Given the description of an element on the screen output the (x, y) to click on. 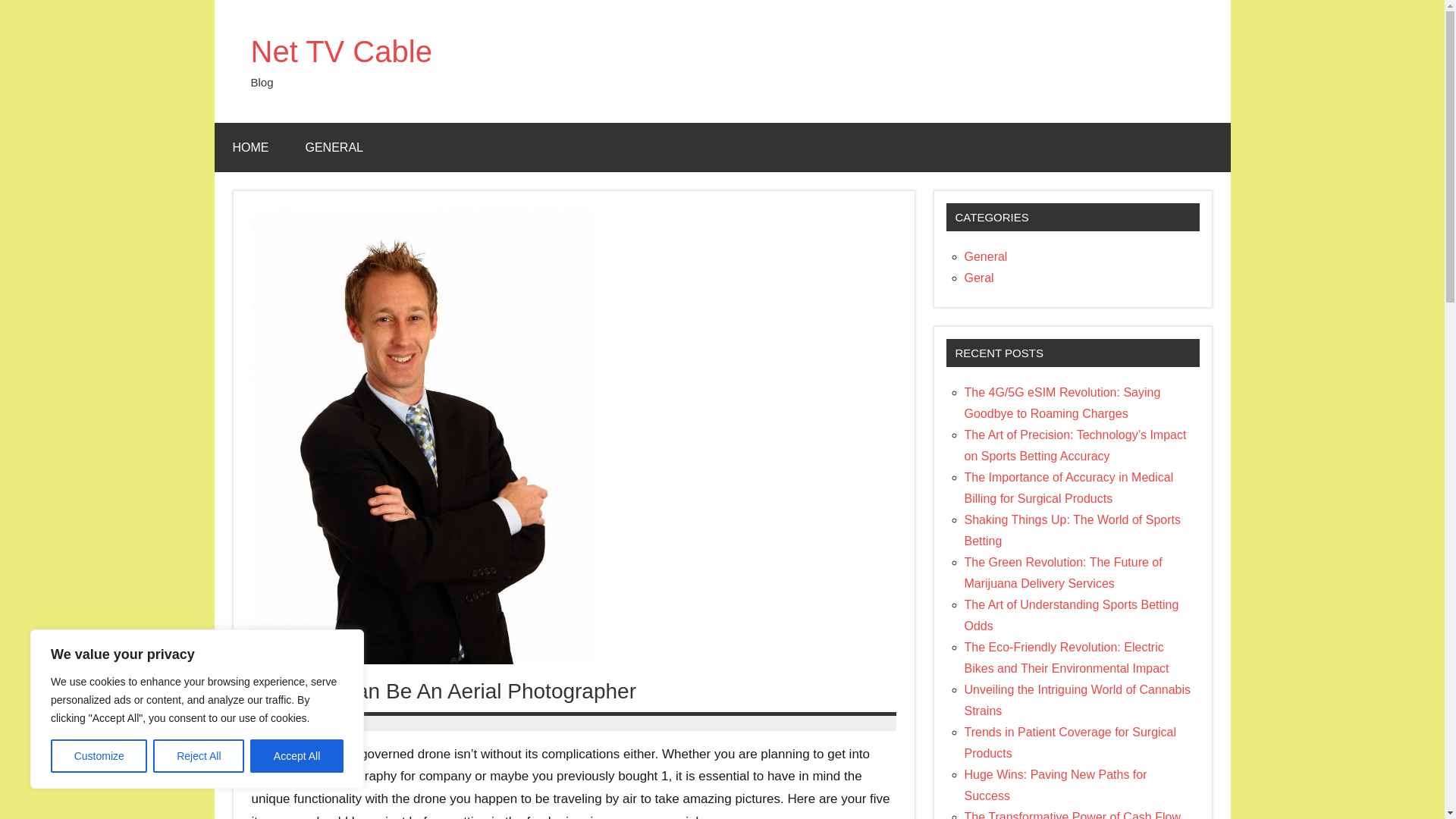
GENERAL (333, 146)
HOME (250, 146)
Customize (98, 756)
Reject All (198, 756)
The Art of Understanding Sports Betting Odds (1071, 615)
General (985, 256)
Accept All (296, 756)
Net TV Cable (340, 51)
Geral (978, 277)
Shaking Things Up: The World of Sports Betting (1071, 530)
